Given the description of an element on the screen output the (x, y) to click on. 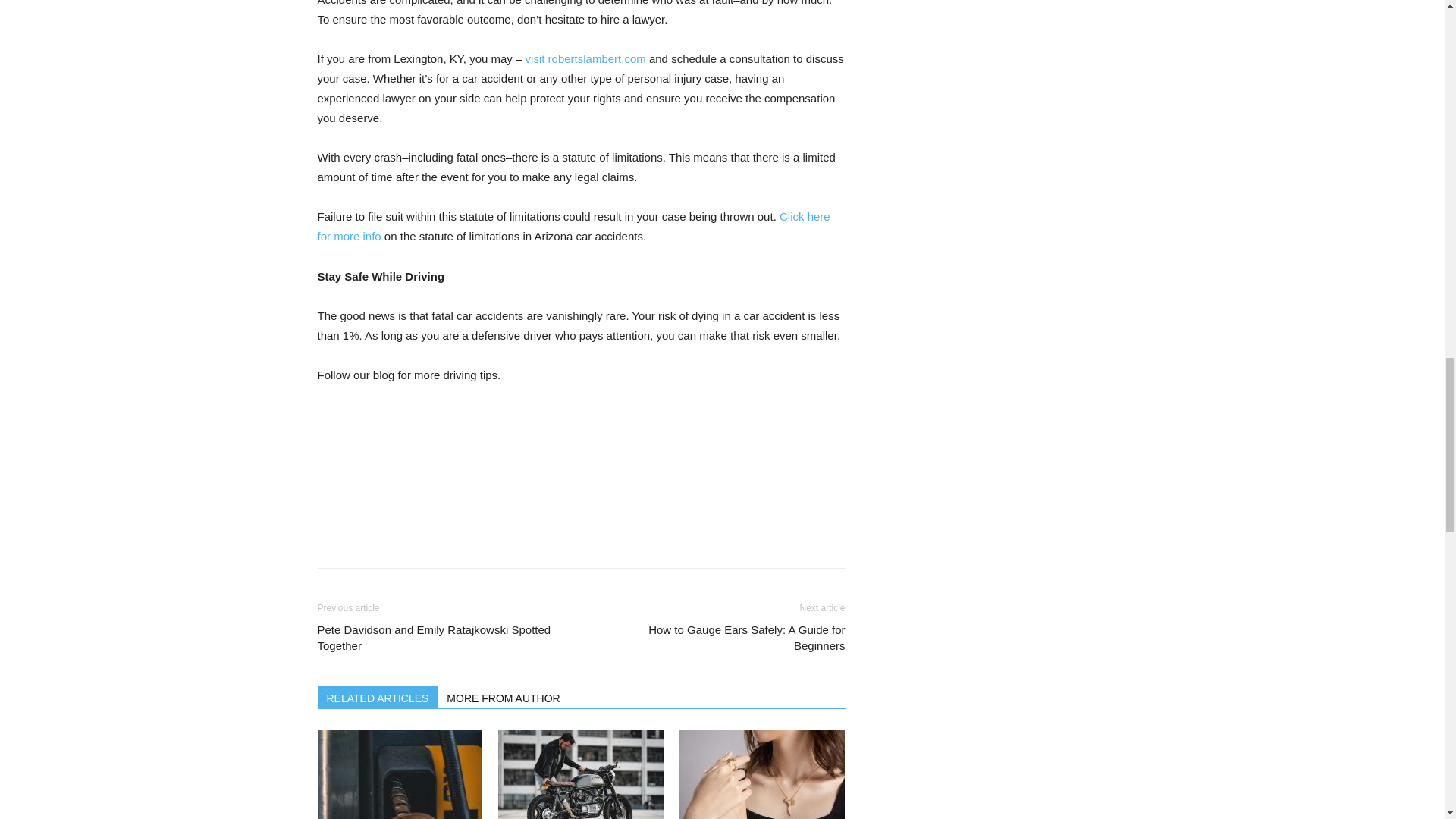
A Guide to Effective Truck Maintenance for Your Business (399, 774)
